Given the description of an element on the screen output the (x, y) to click on. 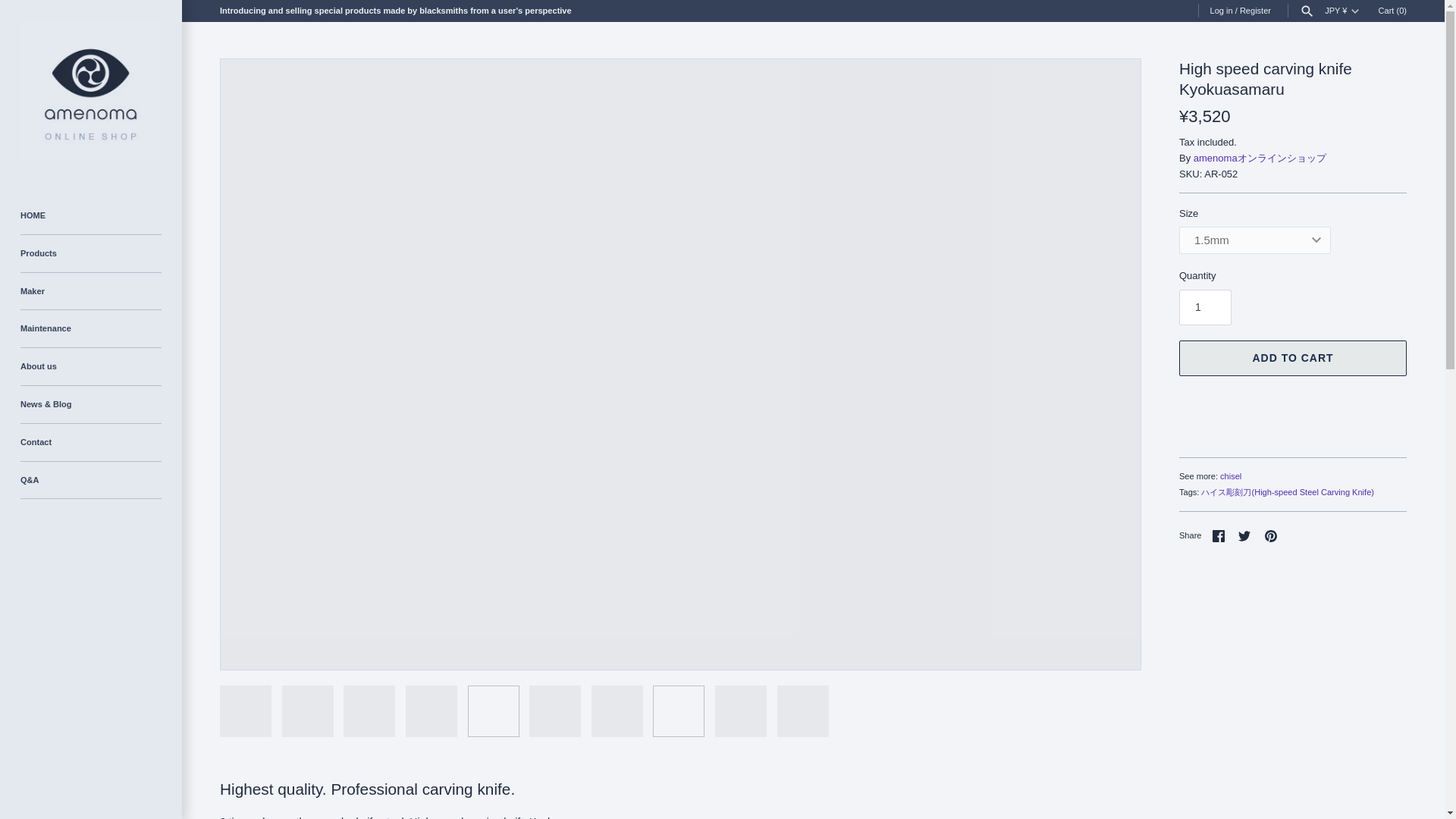
Log in (1221, 10)
chisel (1230, 475)
Facebook (1218, 535)
Products (90, 253)
Pinterest (1270, 535)
Twitter (1244, 535)
Maker (90, 291)
1 (1205, 307)
HOME (90, 216)
Register (1255, 10)
